Given the description of an element on the screen output the (x, y) to click on. 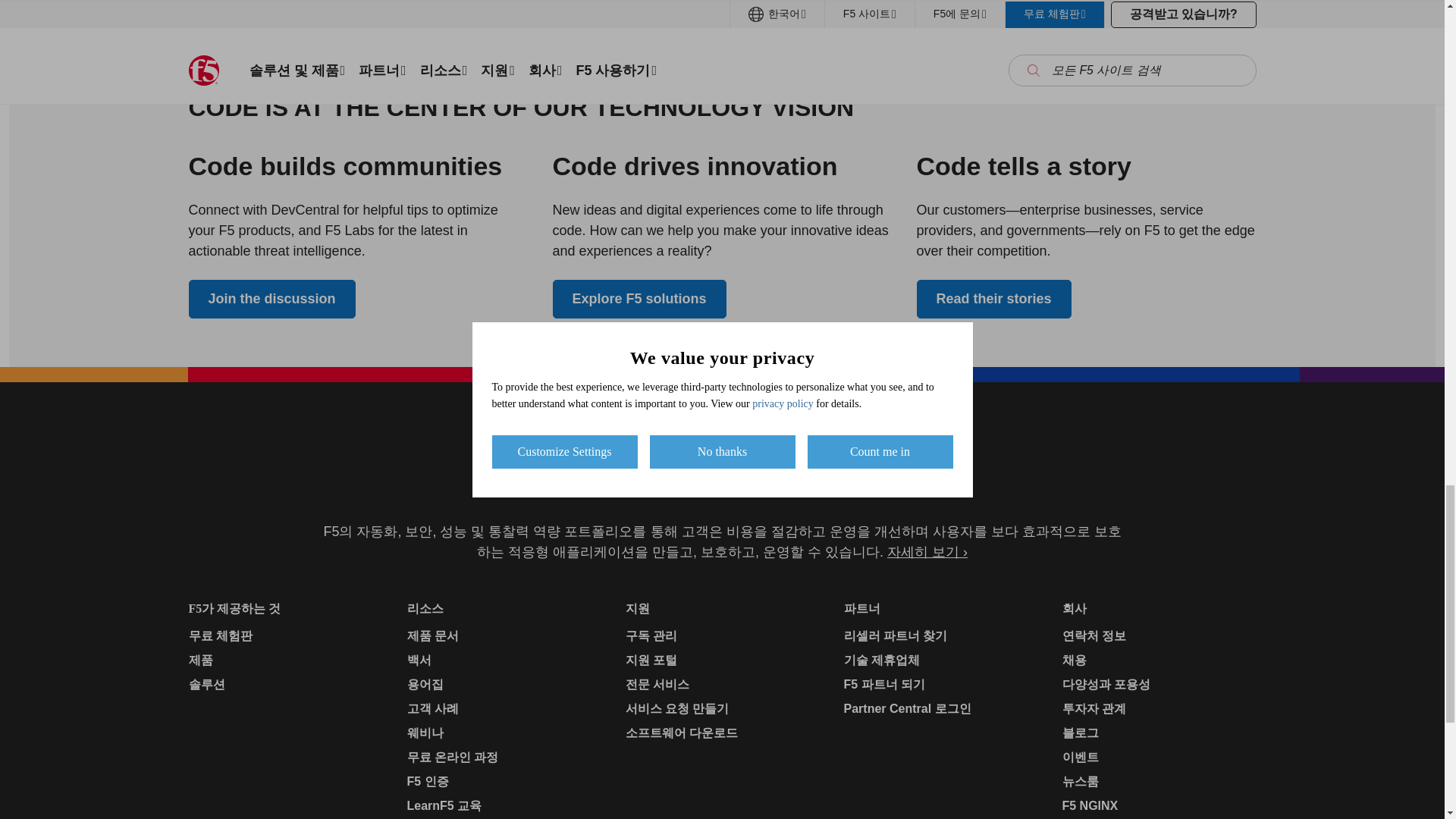
Read their stories (992, 299)
Explore F5 solutions (638, 299)
Join the discussion (271, 299)
